Given the description of an element on the screen output the (x, y) to click on. 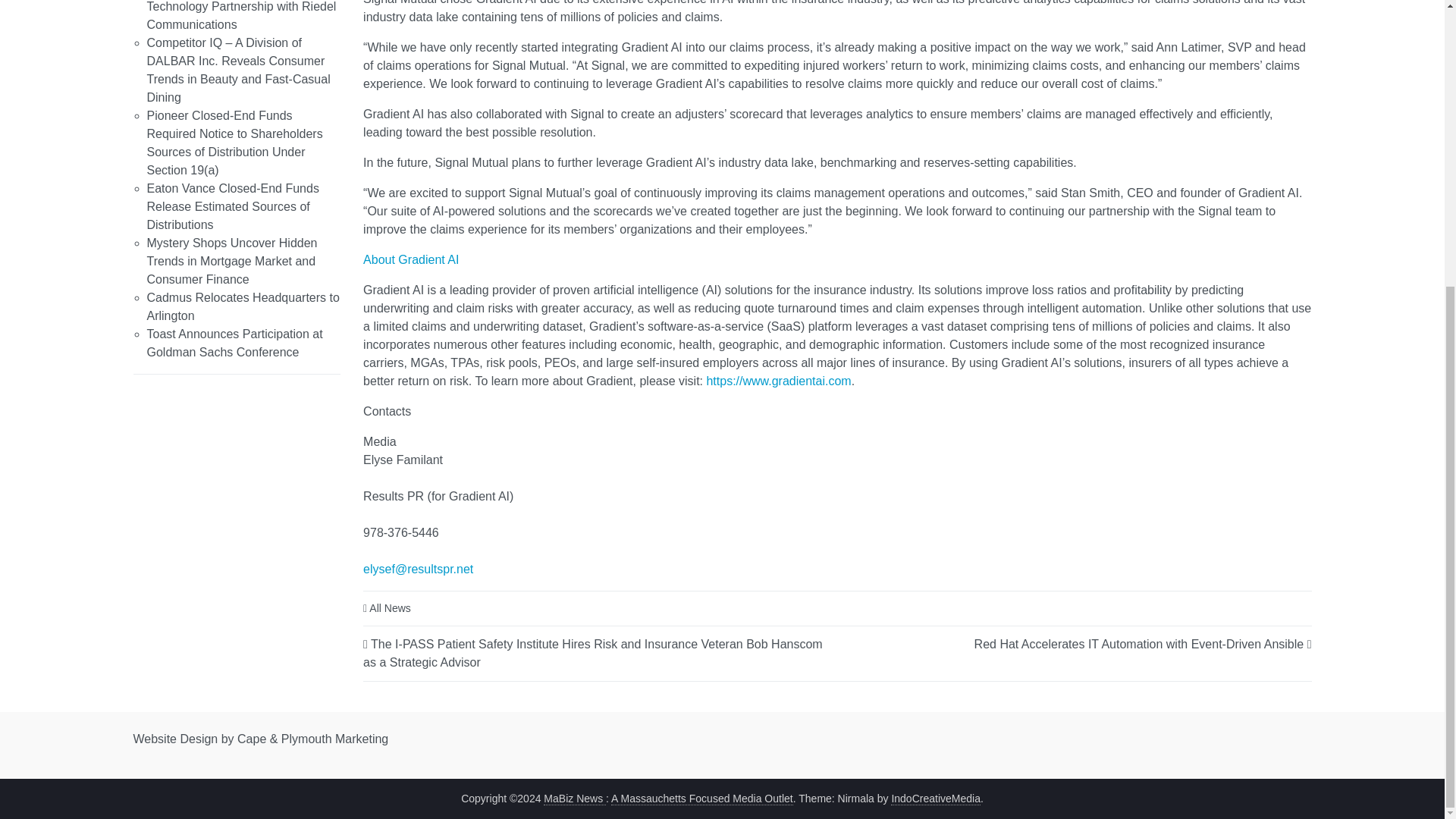
Red Hat Accelerates IT Automation with Event-Driven Ansible (1139, 643)
Cadmus Relocates Headquarters to Arlington (243, 306)
About Gradient AI (410, 259)
A Massauchetts Focused Media Outlet (702, 797)
All News (389, 607)
Website Design (175, 738)
Toast Announces Participation at Goldman Sachs Conference (235, 342)
